Given the description of an element on the screen output the (x, y) to click on. 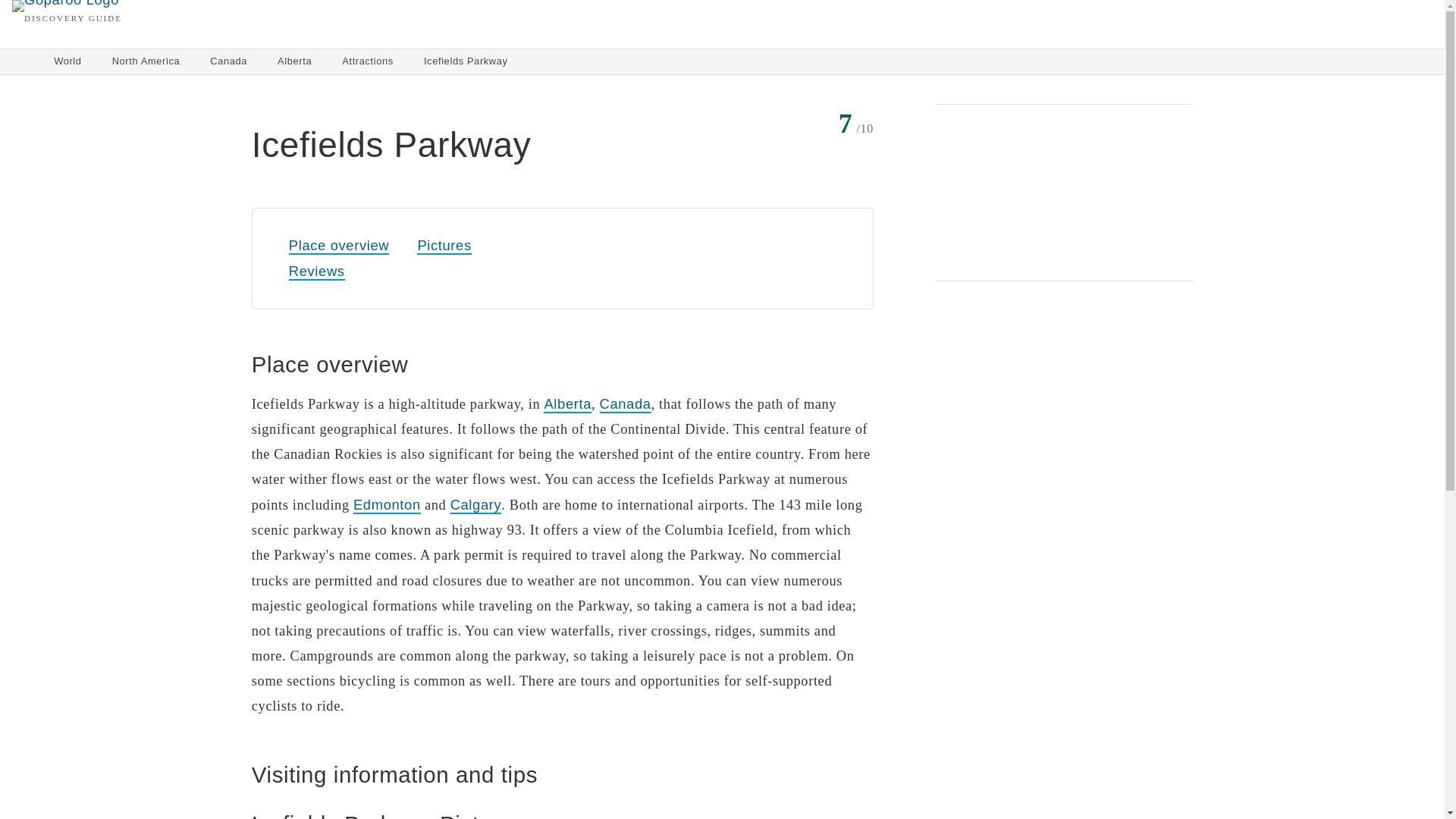
Alberta (567, 404)
Icefields Parkway (465, 61)
Alberta (293, 61)
Canada (228, 61)
Pictures (443, 245)
Attractions (367, 61)
North America (145, 61)
World (67, 61)
Edmonton (386, 505)
Calgary (475, 505)
